Given the description of an element on the screen output the (x, y) to click on. 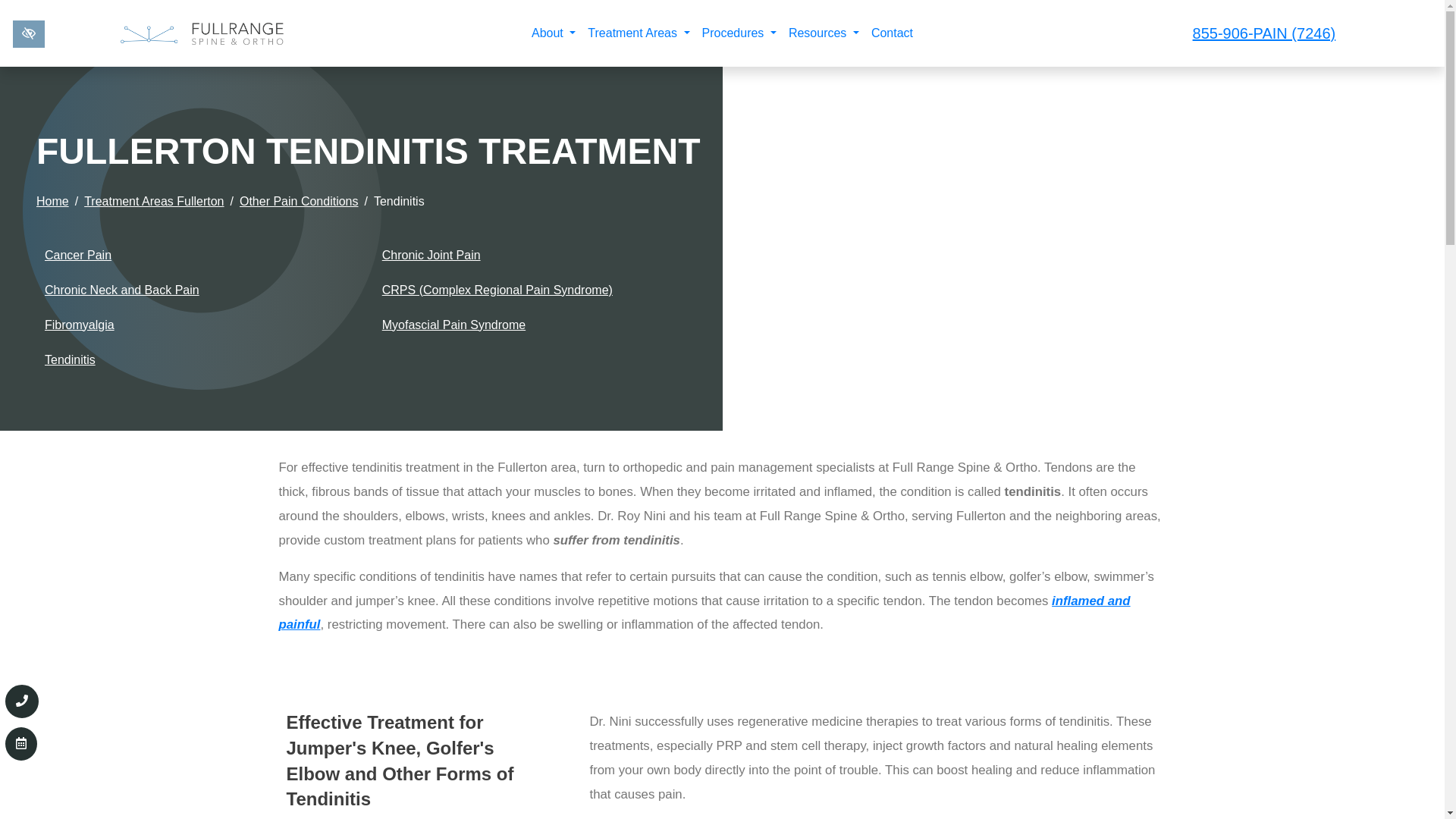
Fullerton CA Chronic Pain Management (705, 612)
Skip to main content (9, 4)
About (552, 33)
Treatment Areas (637, 33)
